Given the description of an element on the screen output the (x, y) to click on. 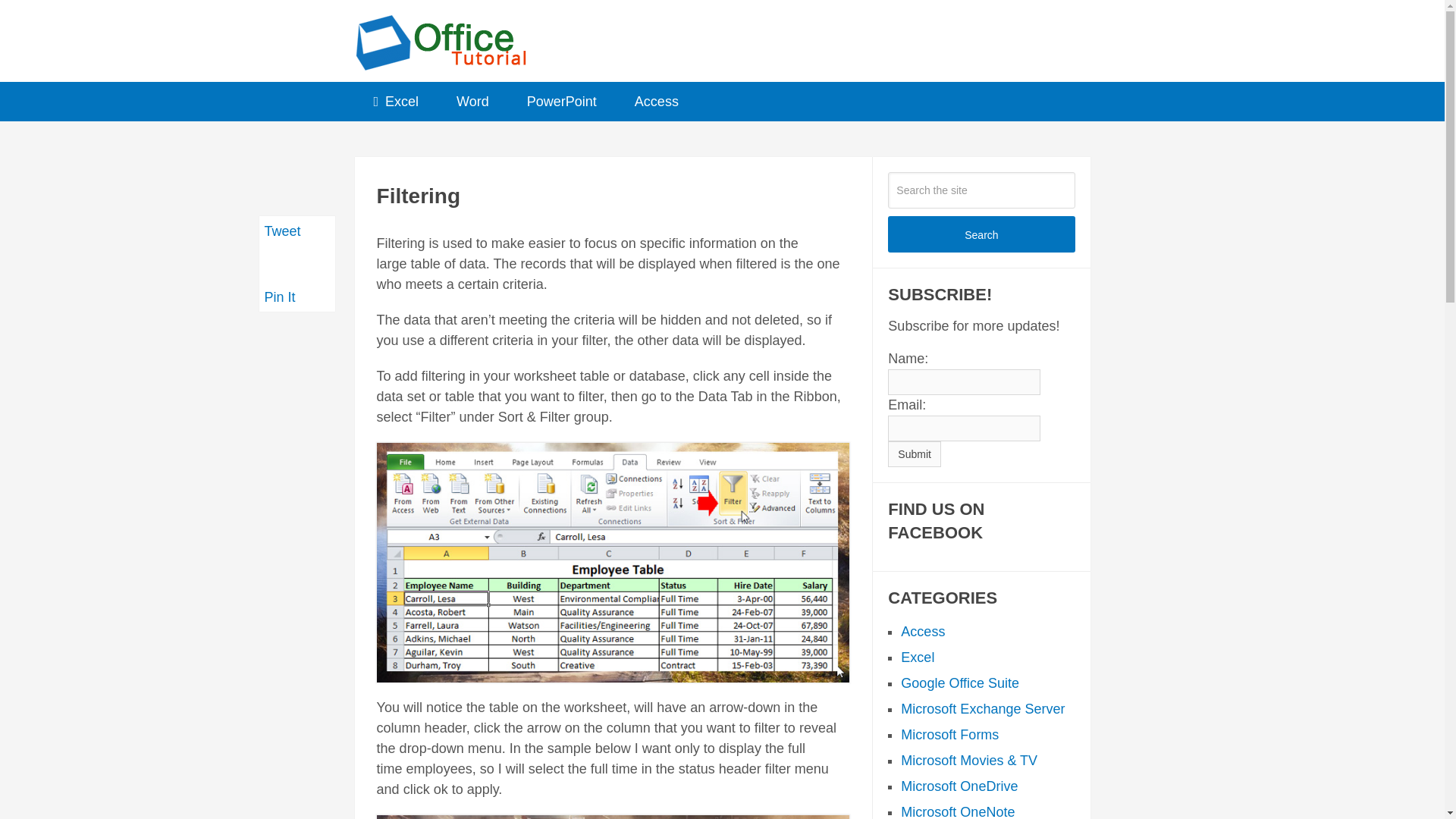
Microsoft OneDrive (959, 785)
Microsoft OneNote (957, 811)
Search (981, 234)
PowerPoint (561, 101)
Word (473, 101)
Access (922, 631)
Microsoft Exchange Server (982, 708)
Submit (914, 453)
Excel (396, 101)
Name (964, 381)
